Given the description of an element on the screen output the (x, y) to click on. 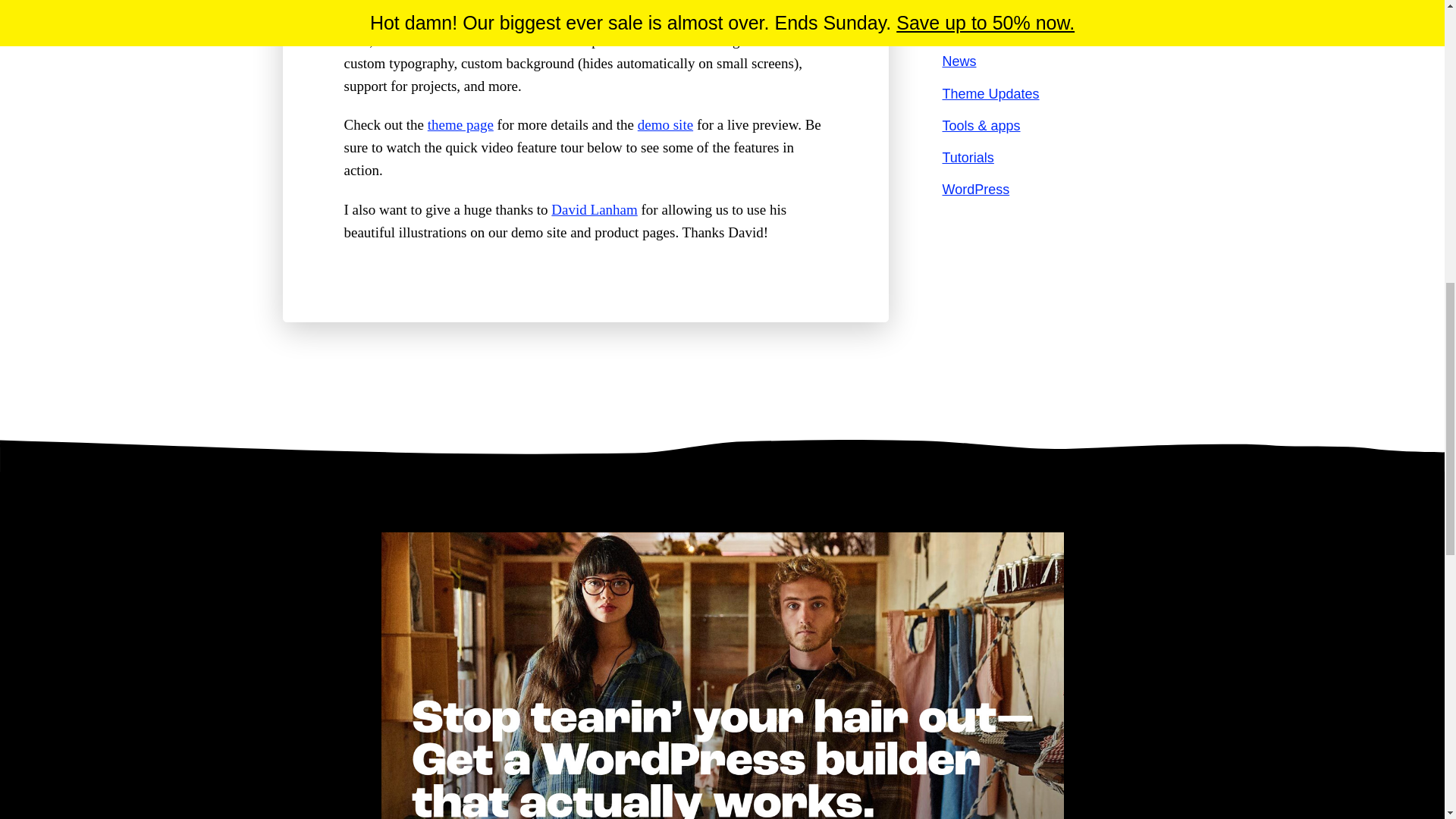
News (958, 61)
theme page (460, 124)
demo site (665, 124)
New Releases (985, 29)
WordPress (975, 189)
React (432, 1)
Tutorials (967, 157)
From the workshop (1000, 2)
David Lanham (594, 209)
Theme Updates (990, 93)
